Given the description of an element on the screen output the (x, y) to click on. 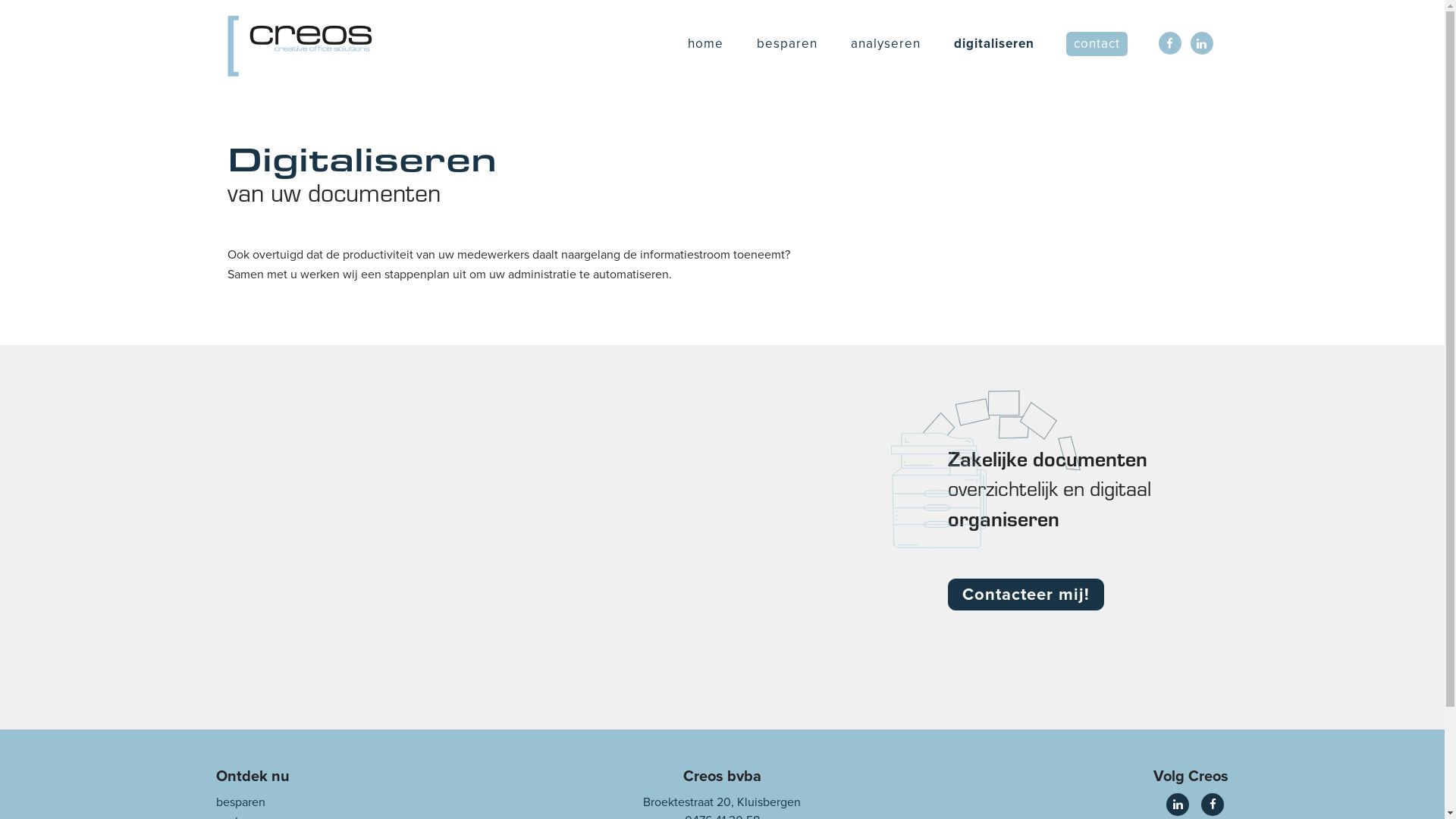
Contacteer mij! Element type: text (1025, 594)
besparen Element type: text (787, 43)
besparen Element type: text (239, 801)
Creos Element type: hover (300, 44)
digitaliseren Element type: text (993, 43)
home Element type: text (704, 43)
contact Element type: text (1096, 43)
analyseren Element type: text (885, 43)
